Given the description of an element on the screen output the (x, y) to click on. 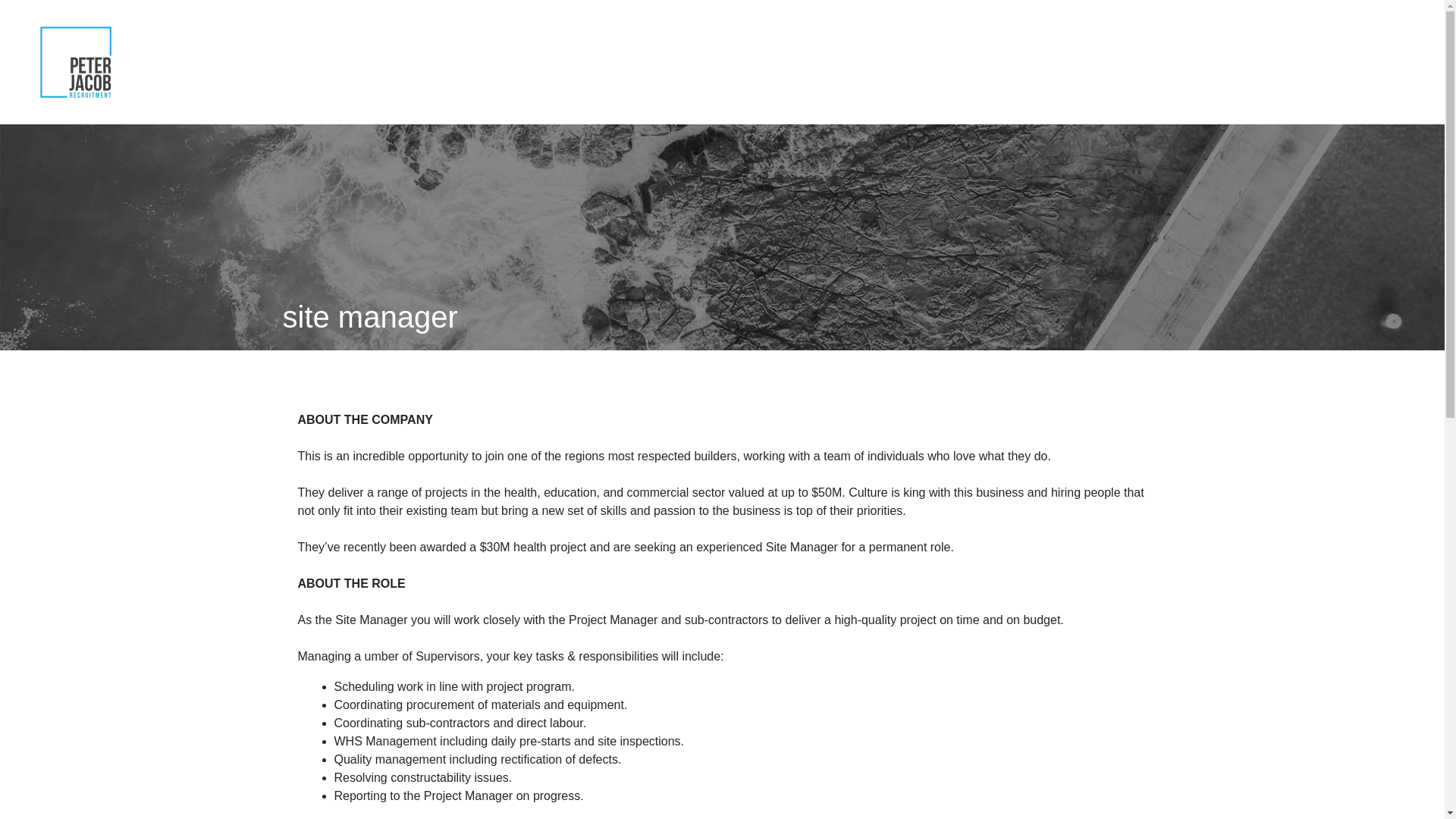
positions vacant. (1304, 62)
about. (1045, 62)
job seekers. (1202, 62)
home. (987, 62)
contact. (1395, 62)
employers. (1115, 62)
